Given the description of an element on the screen output the (x, y) to click on. 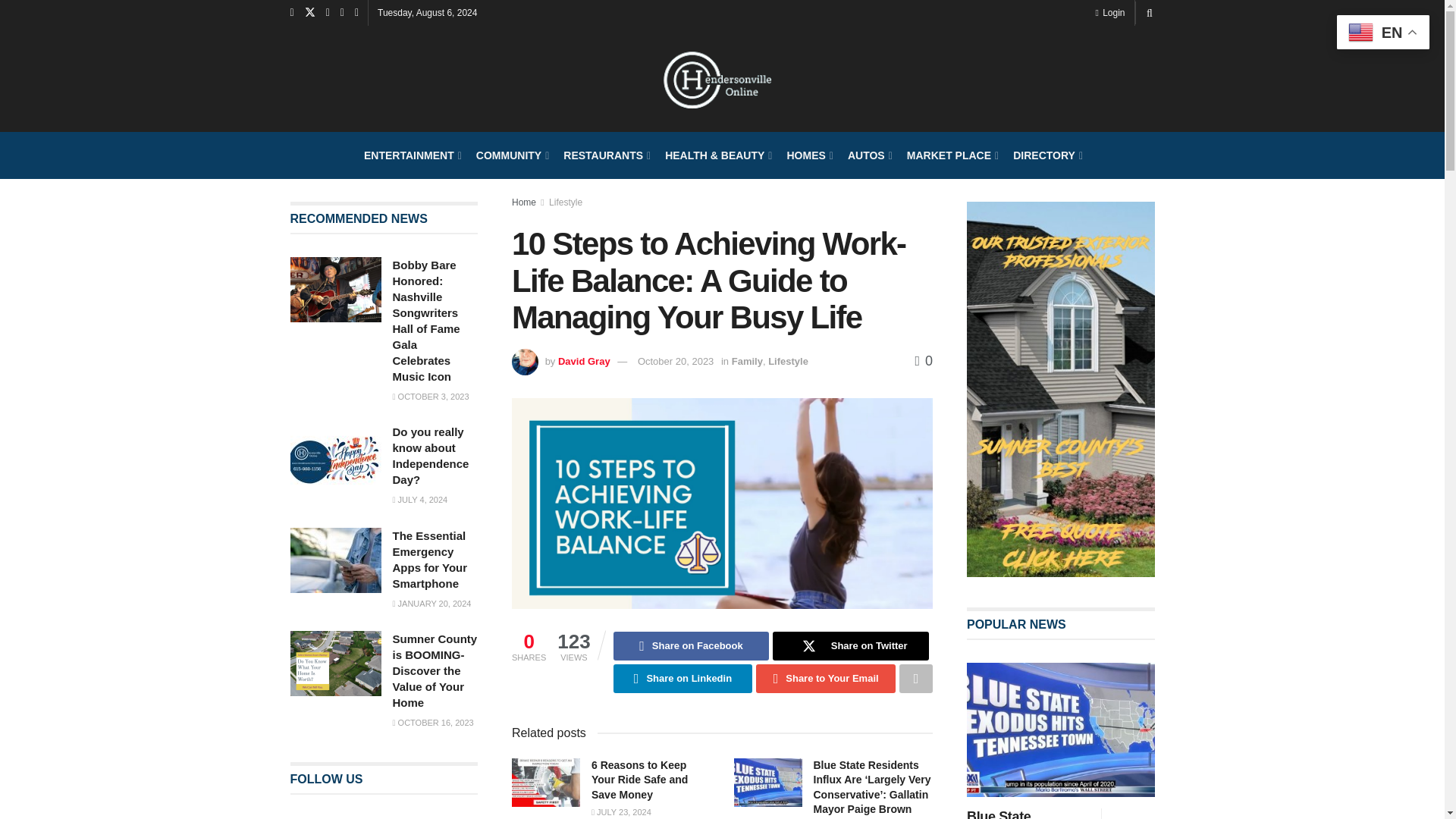
HOMES (807, 155)
RESTAURANTS (605, 155)
ENTERTAINMENT (412, 155)
Login (1109, 12)
COMMUNITY (511, 155)
